Given the description of an element on the screen output the (x, y) to click on. 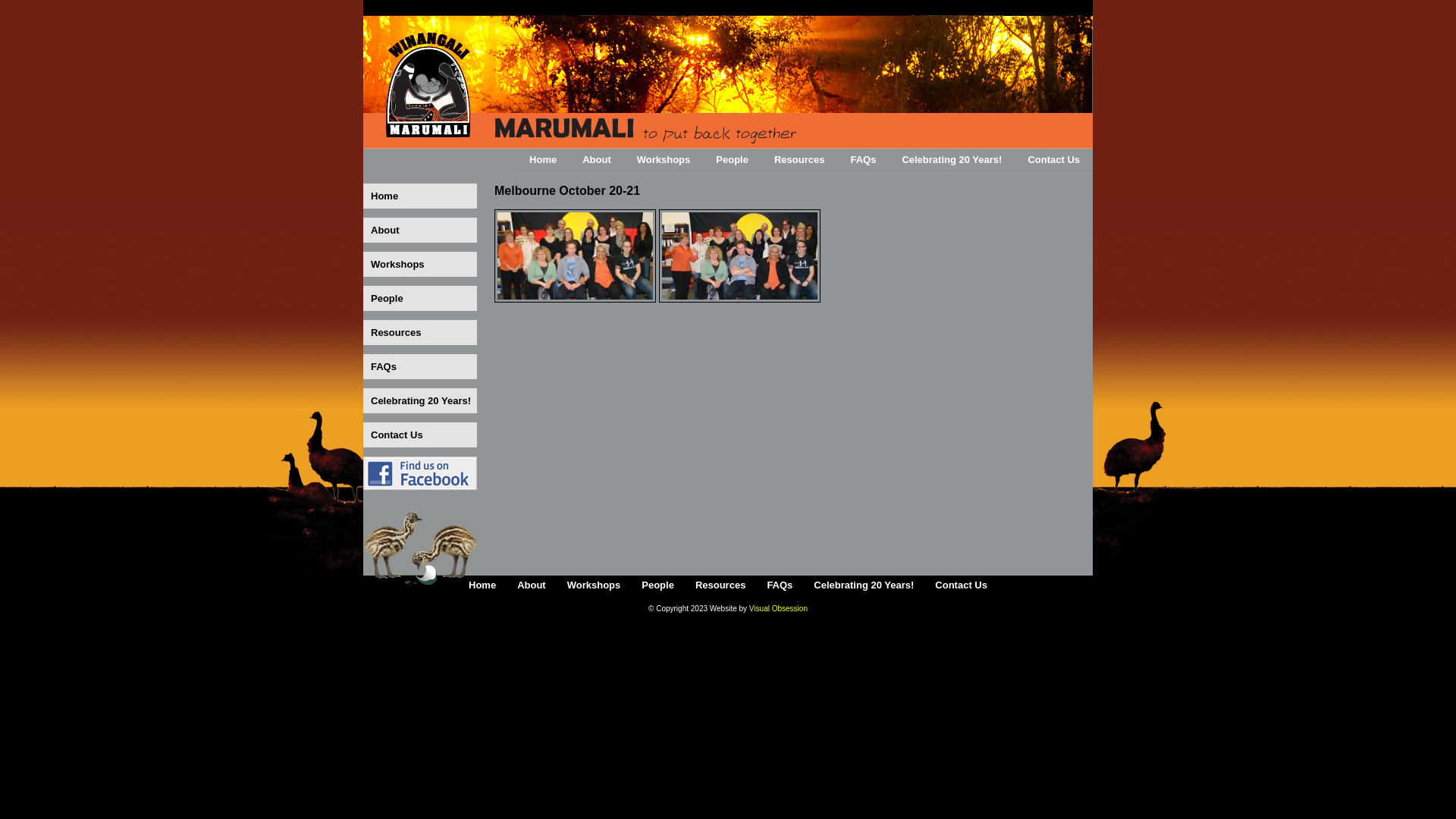
FAQs Element type: text (419, 366)
Contact Us Element type: text (960, 584)
Resources Element type: text (720, 584)
Celebrating 20 Years! Element type: text (863, 584)
Visual Obsession Element type: text (778, 608)
Contact Us Element type: text (419, 434)
Home Element type: text (482, 584)
About Element type: text (596, 159)
Home Element type: text (542, 159)
Home Element type: hover (592, 84)
  Element type: text (419, 473)
People Element type: text (419, 297)
Workshops Element type: text (419, 263)
FAQs Element type: text (779, 584)
About Element type: text (419, 229)
Celebrating 20 Years! Element type: text (951, 159)
Resources Element type: text (799, 159)
People Element type: text (657, 584)
Resources Element type: text (419, 332)
Home Element type: text (419, 195)
FAQs Element type: text (862, 159)
Contact Us Element type: text (1053, 159)
Workshops Element type: text (663, 159)
Celebrating 20 Years! Element type: text (419, 400)
People Element type: text (731, 159)
About Element type: text (531, 584)
Workshops Element type: text (593, 584)
